Given the description of an element on the screen output the (x, y) to click on. 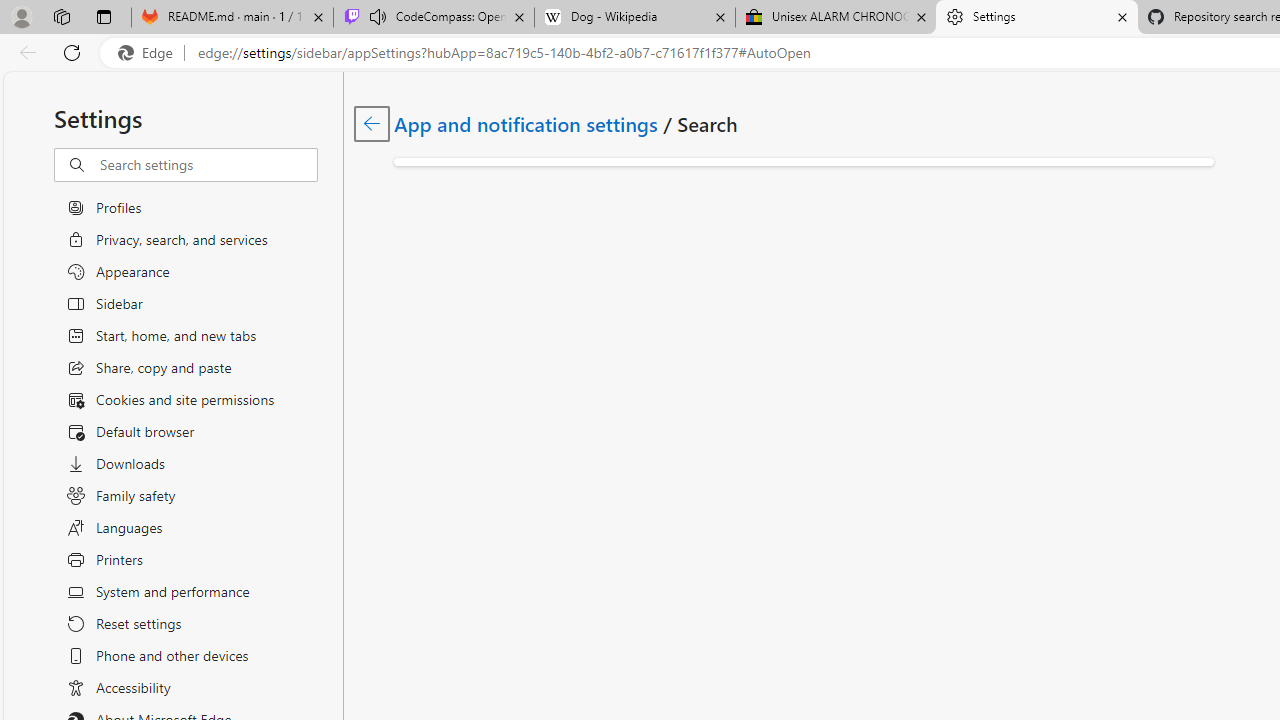
Mute tab (377, 16)
Dog - Wikipedia (634, 17)
Class: c01177 (371, 123)
Go back to App and notification settings page. (372, 123)
App and notification settings (527, 123)
Edge (150, 53)
Search settings (207, 165)
